Given the description of an element on the screen output the (x, y) to click on. 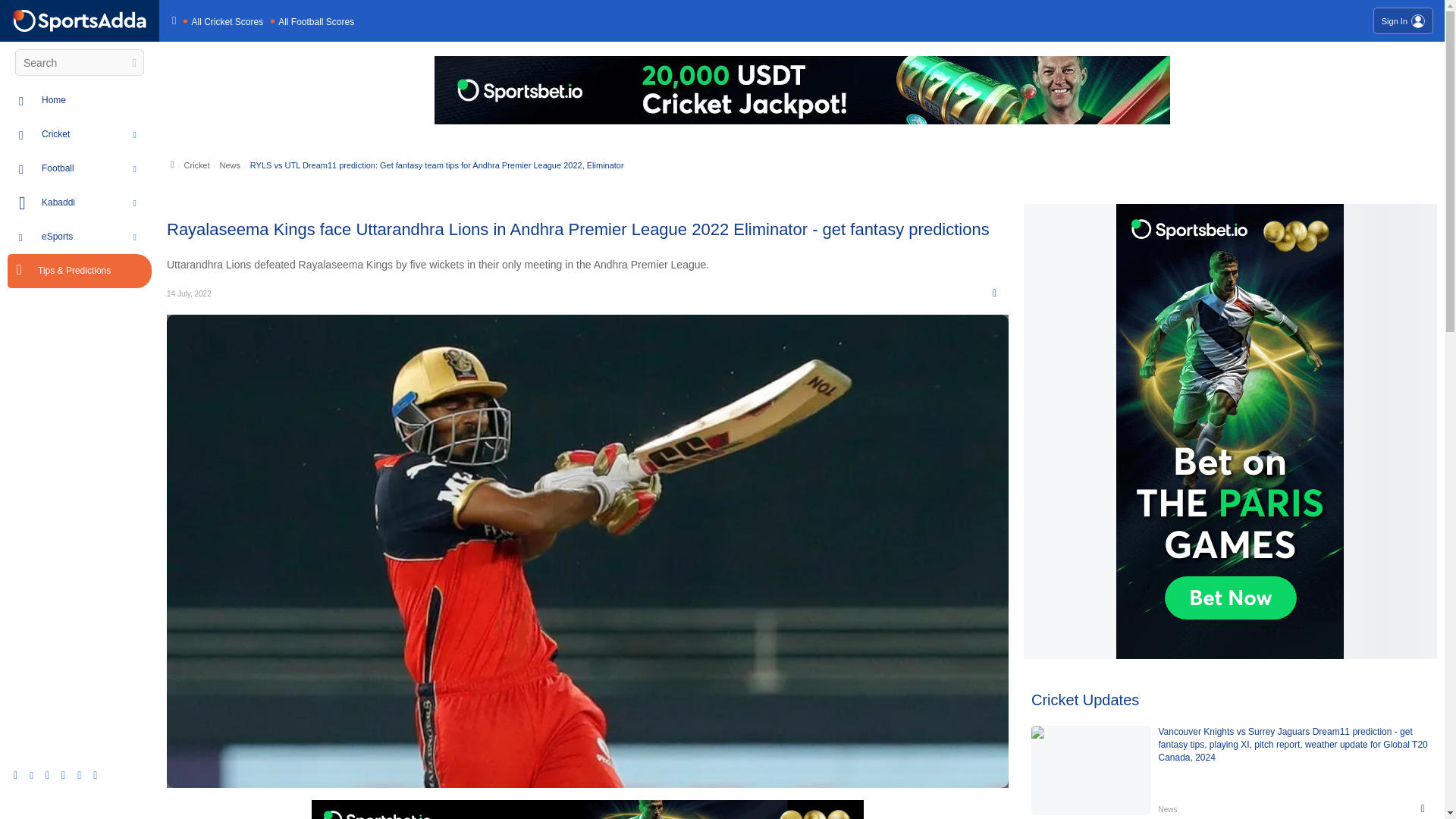
Cricket (96, 134)
Master Menu (79, 20)
Football (96, 168)
Kabaddi (96, 202)
Search (132, 62)
eSports (96, 236)
Home (96, 100)
